Given the description of an element on the screen output the (x, y) to click on. 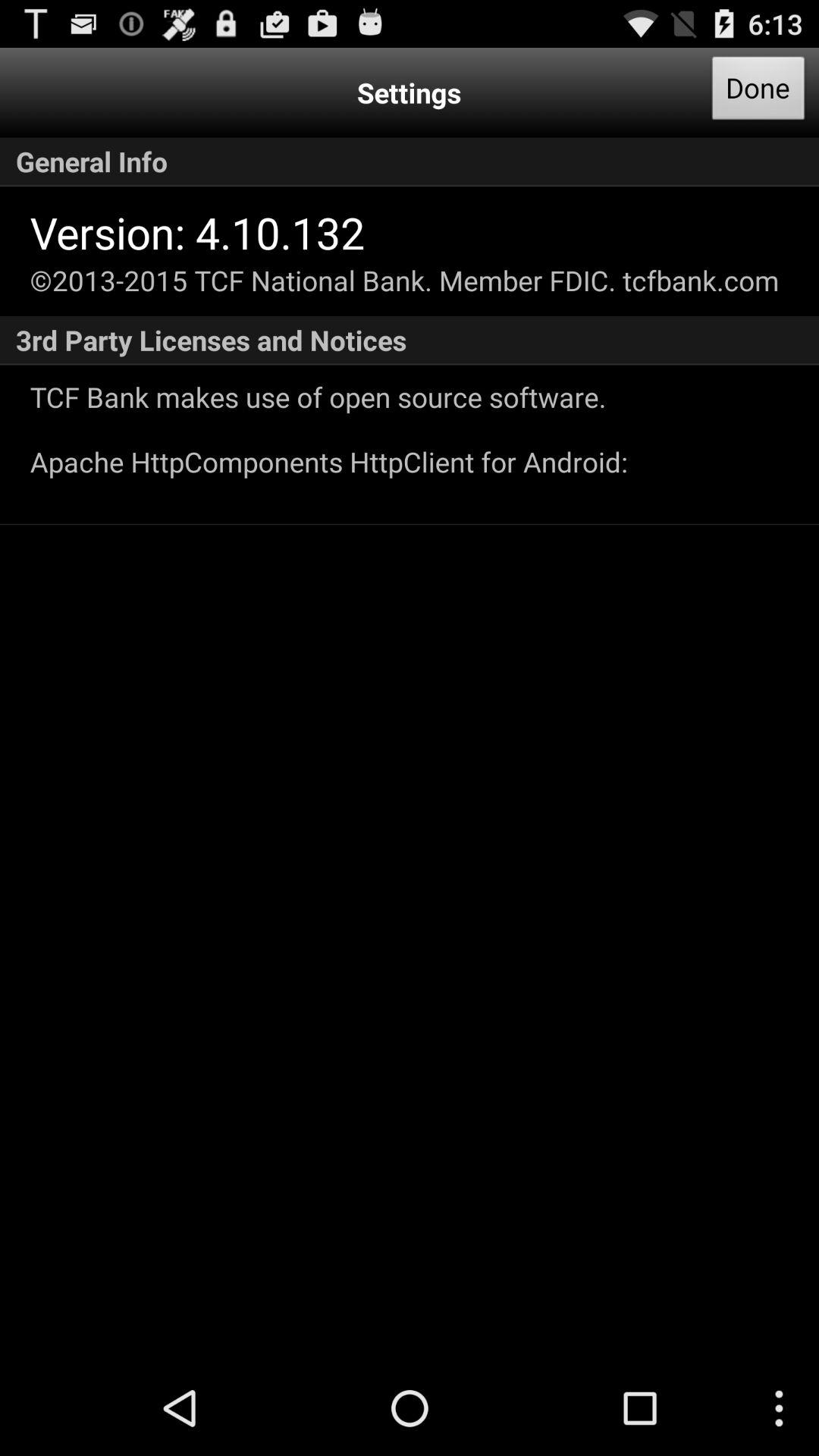
tap the general info app (409, 161)
